Given the description of an element on the screen output the (x, y) to click on. 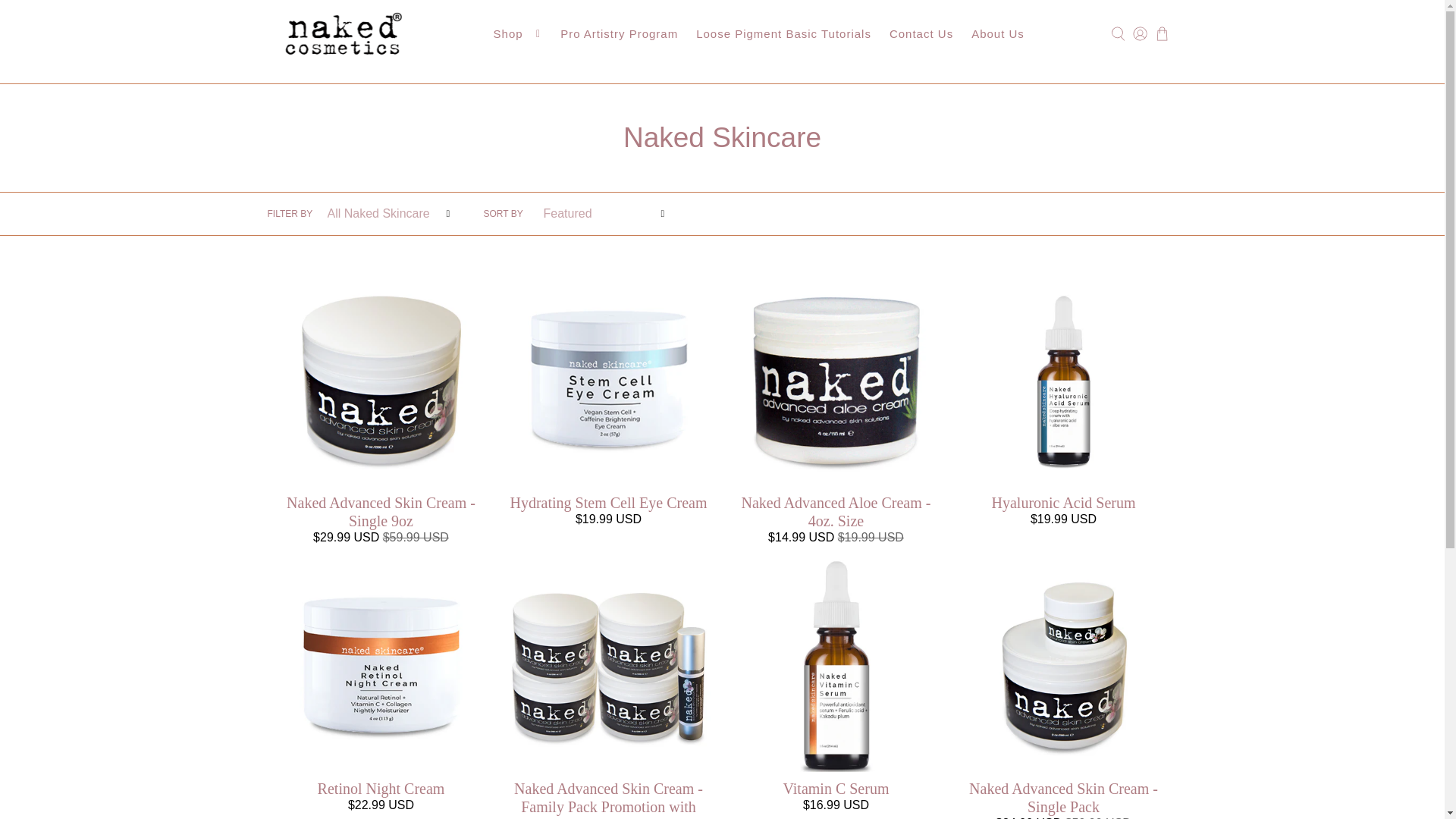
Loose Pigment Basic Tutorials (783, 34)
About Us (997, 34)
Contact Us (921, 34)
Naked Cosmetics (342, 34)
Shop (517, 34)
Pro Artistry Program (619, 34)
